Given the description of an element on the screen output the (x, y) to click on. 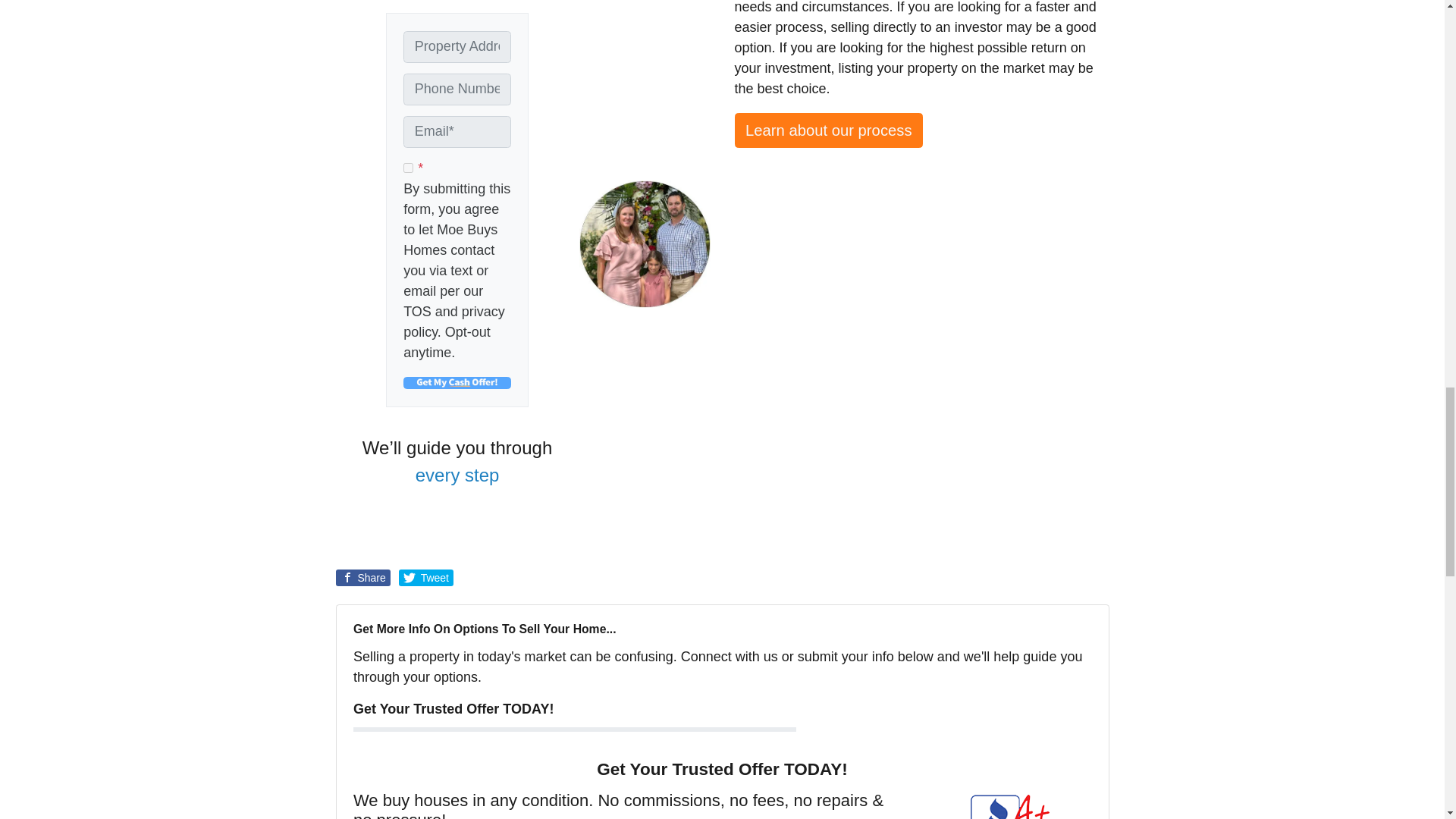
every step (456, 475)
1 (408, 167)
Tweet (425, 577)
Learn about our process (828, 130)
Share on Twitter (425, 577)
Share on Facebook (362, 577)
Share (362, 577)
